Given the description of an element on the screen output the (x, y) to click on. 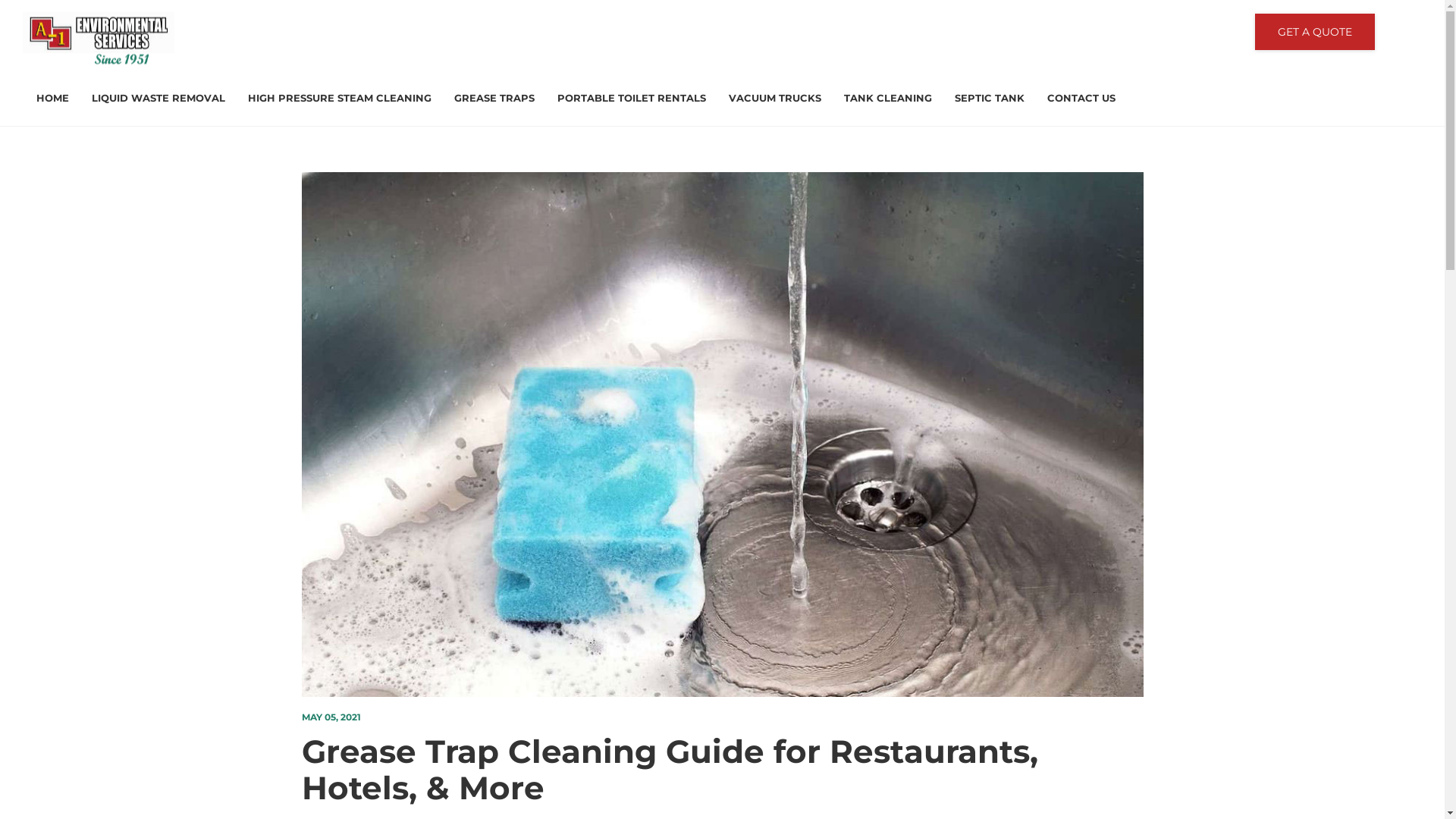
TANK CLEANING Element type: text (885, 98)
HIGH PRESSURE STEAM CLEANING Element type: text (337, 98)
LIQUID WASTE REMOVAL Element type: text (156, 98)
HOME Element type: text (50, 98)
GREASE TRAPS Element type: text (491, 98)
CONTACT US Element type: text (1074, 98)
GET A QUOTE Element type: text (1314, 31)
PORTABLE TOILET RENTALS Element type: text (629, 98)
VACUUM TRUCKS Element type: text (772, 98)
SEPTIC TANK Element type: text (987, 98)
